Given the description of an element on the screen output the (x, y) to click on. 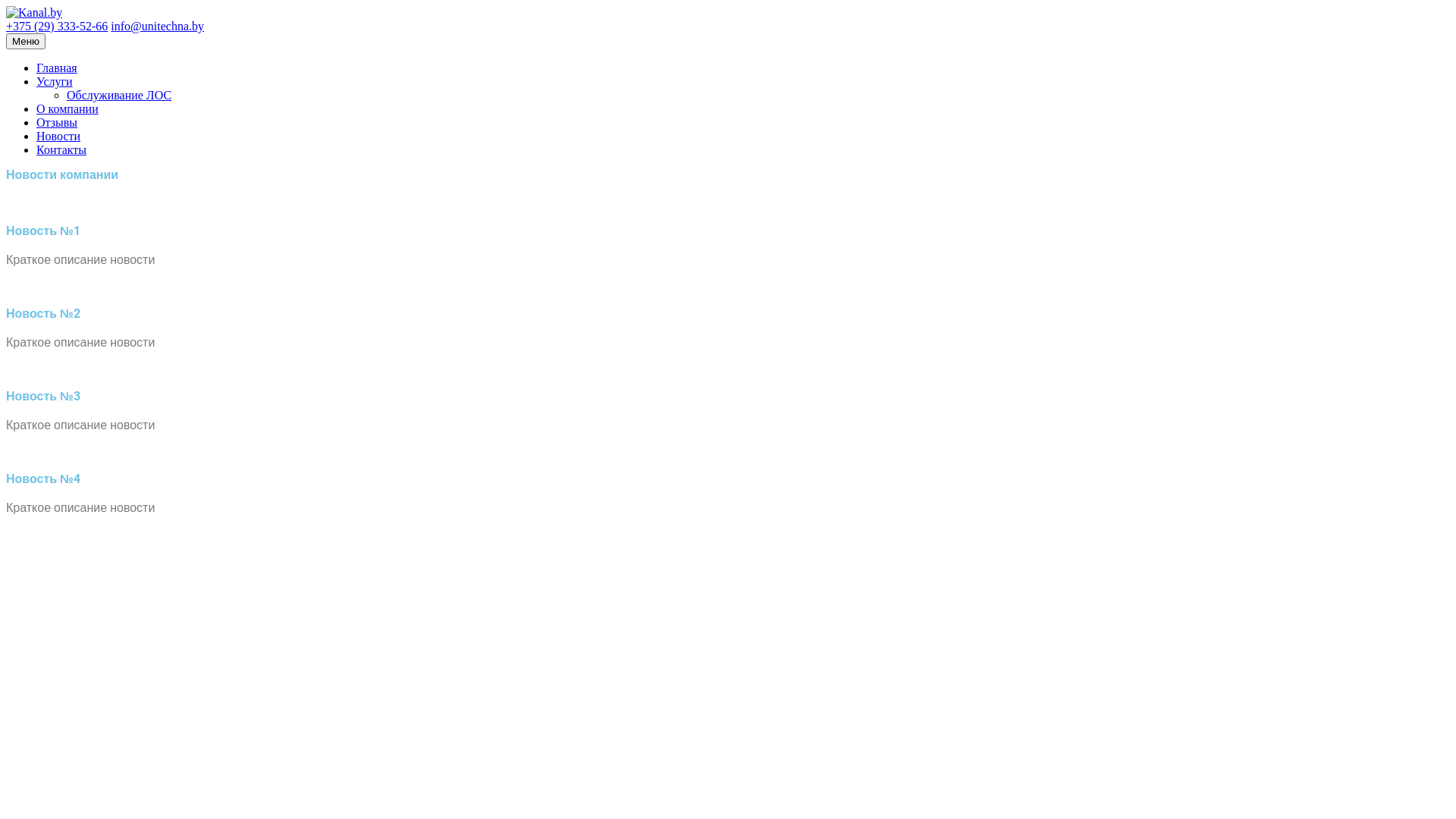
info@unitechna.by Element type: text (156, 25)
+375 (29) 333-52-66 Element type: text (56, 25)
